Given the description of an element on the screen output the (x, y) to click on. 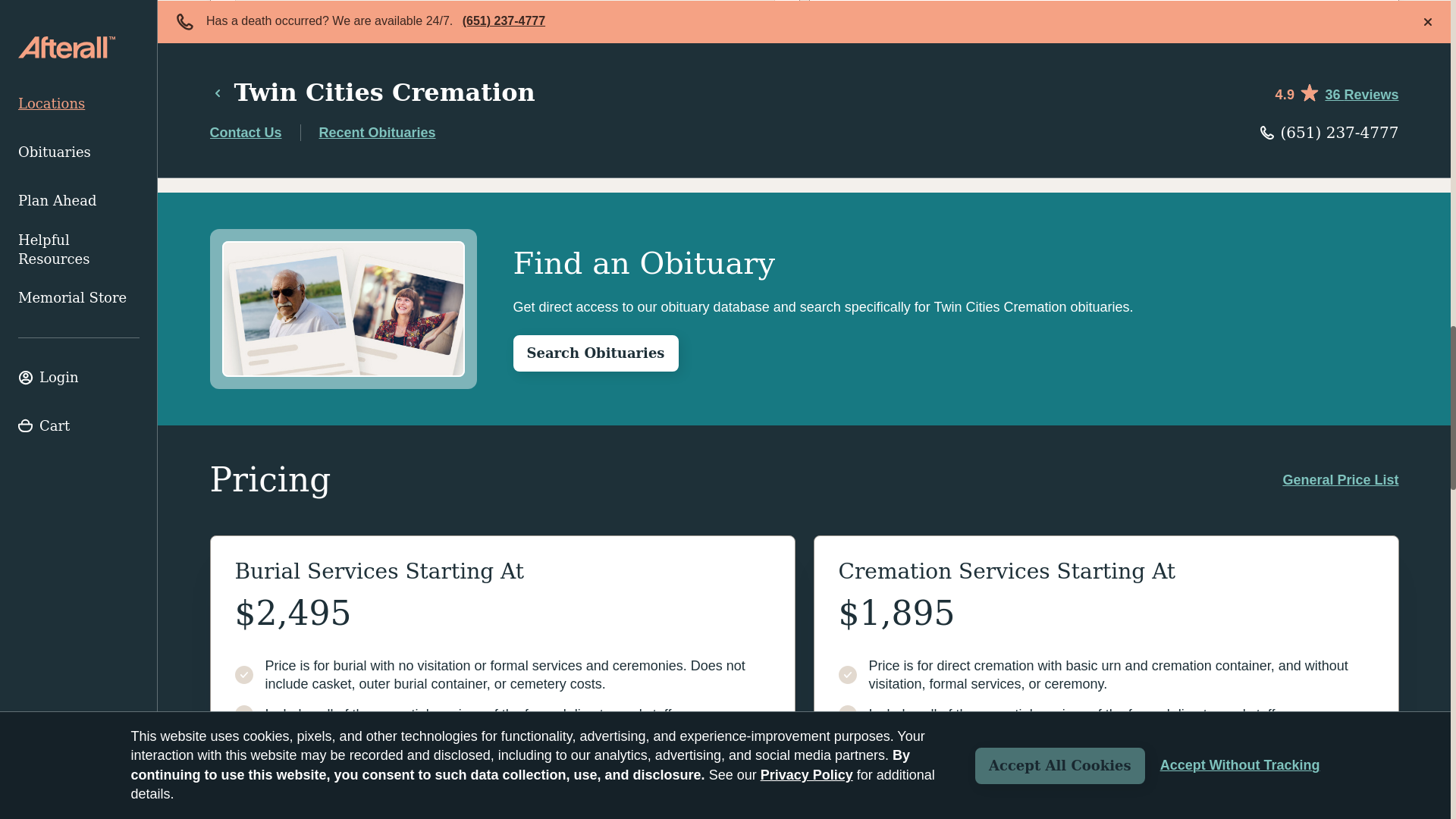
Services We Offer (504, 16)
Memorialization (504, 60)
